Given the description of an element on the screen output the (x, y) to click on. 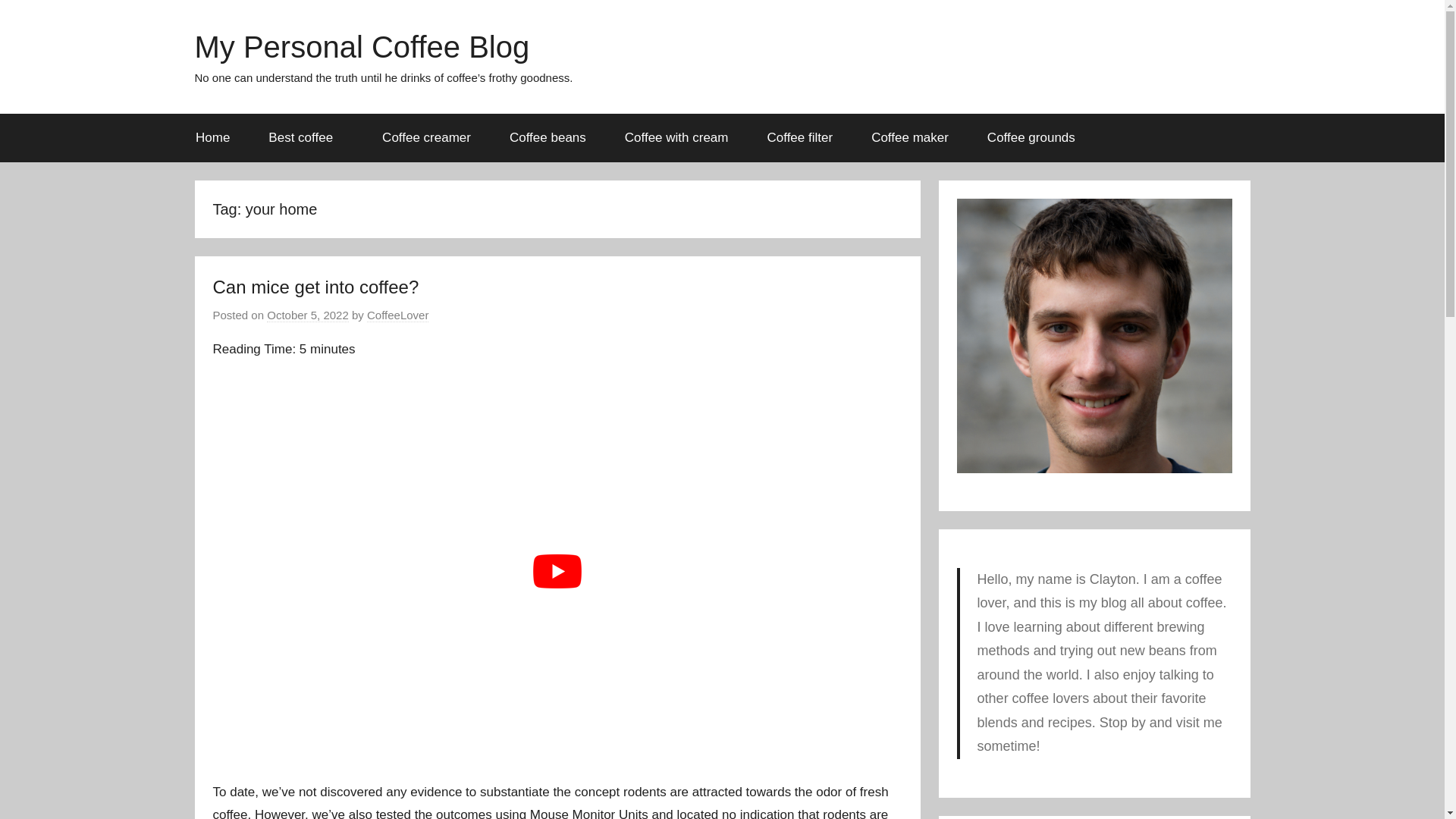
Coffee filter (799, 137)
My Personal Coffee Blog (361, 46)
Home (212, 137)
CoffeeLover (397, 315)
Coffee grounds (1031, 137)
Coffee with cream (676, 137)
Coffee maker (909, 137)
View all posts by CoffeeLover (397, 315)
Best coffee (305, 137)
October 5, 2022 (307, 315)
Coffee beans (547, 137)
Coffee creamer (426, 137)
Can mice get into coffee? (315, 286)
